Given the description of an element on the screen output the (x, y) to click on. 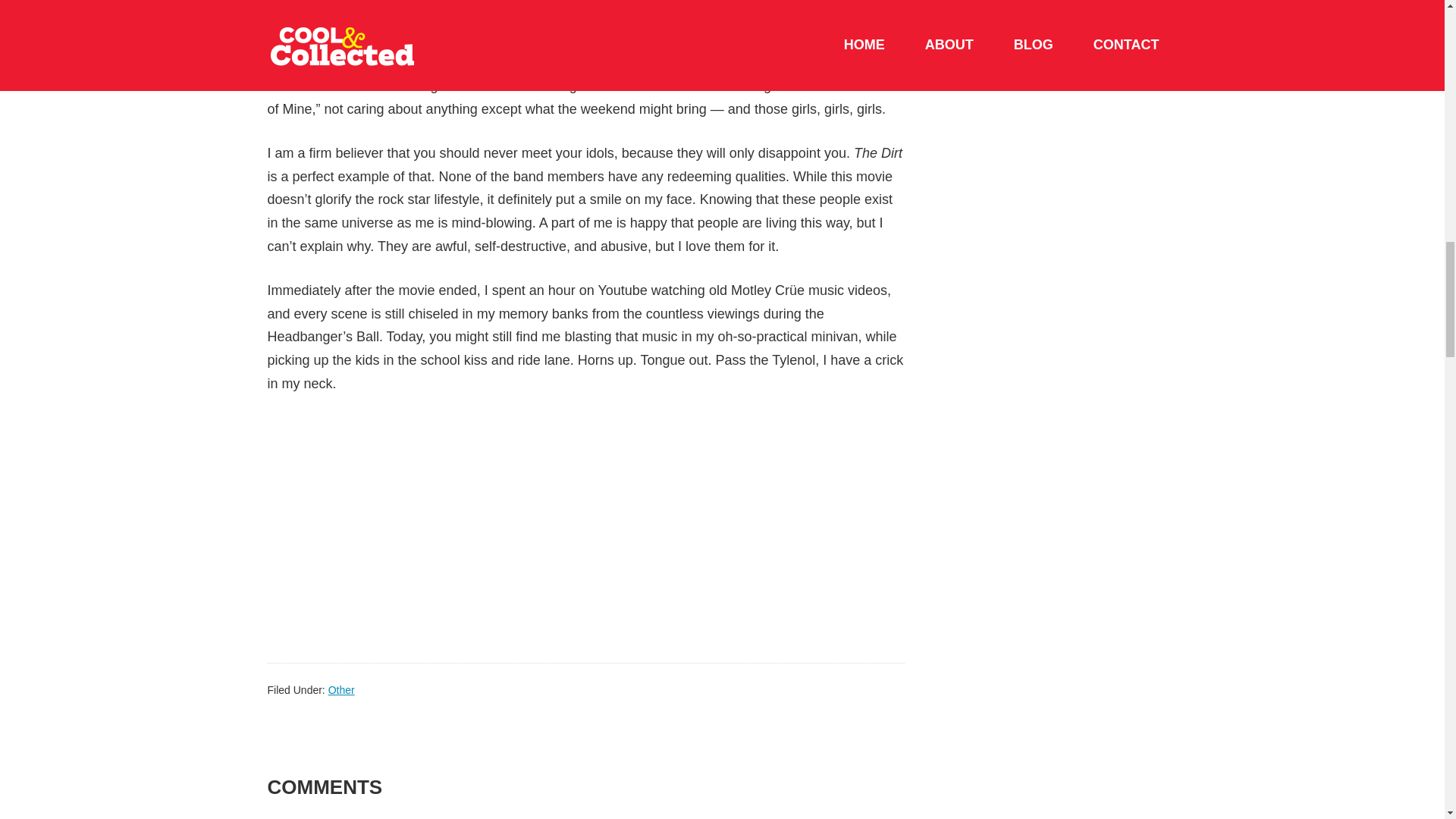
Other (342, 689)
